Given the description of an element on the screen output the (x, y) to click on. 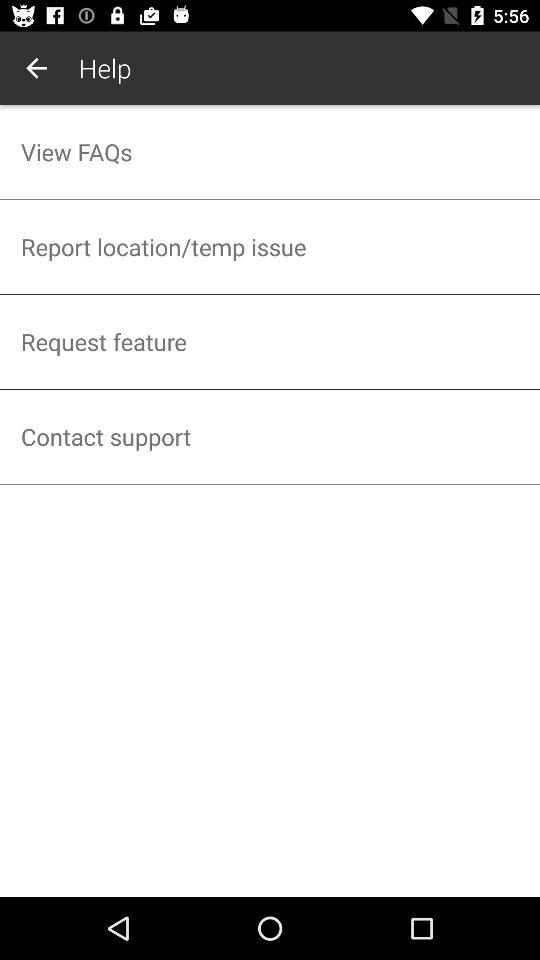
flip to view faqs icon (270, 152)
